Given the description of an element on the screen output the (x, y) to click on. 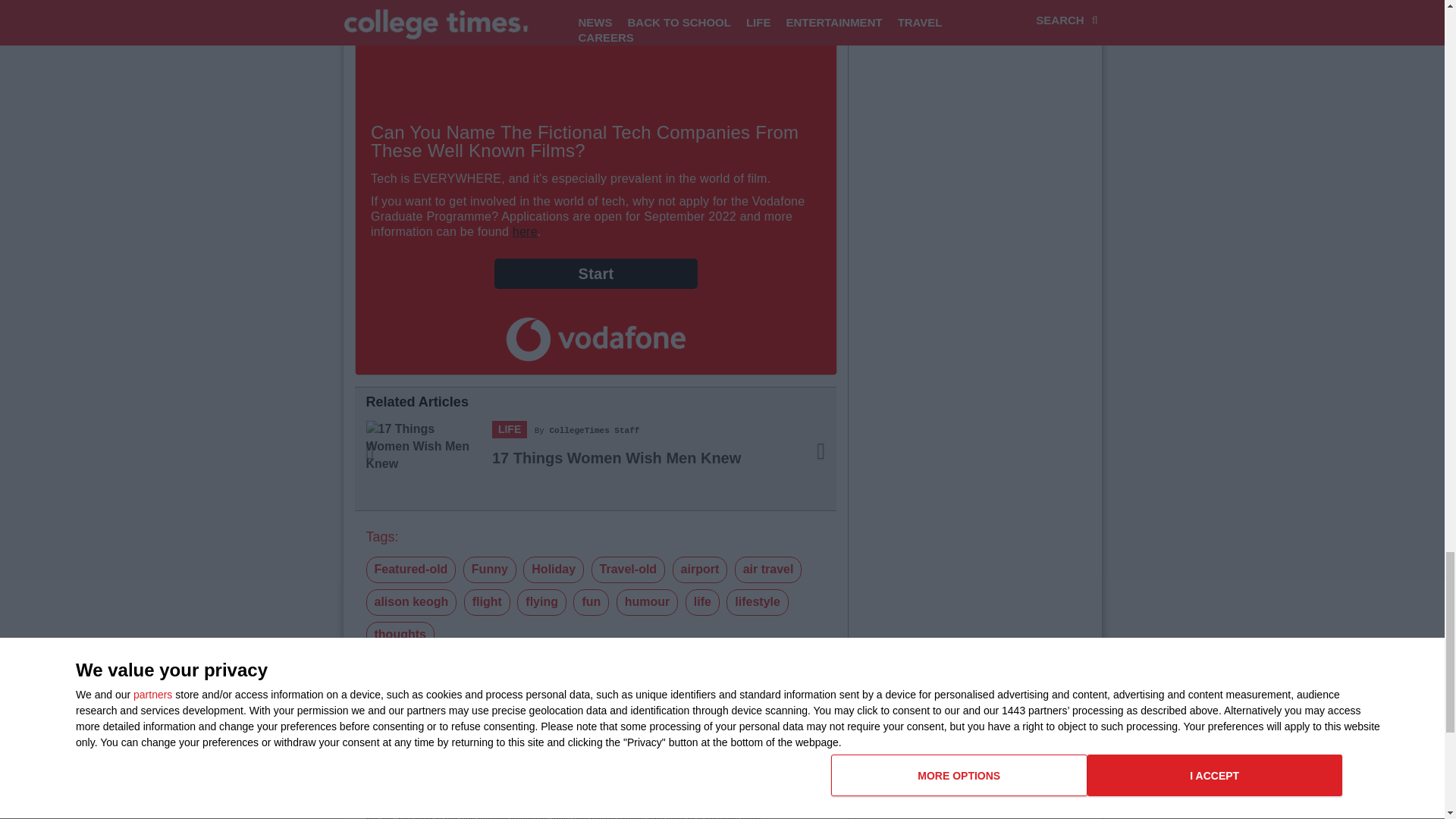
airport (700, 569)
Travel-old (628, 569)
air travel (768, 569)
alison keogh (411, 601)
Next (799, 459)
Previous (390, 459)
CollegeTimes Staff (595, 429)
LIFE (509, 429)
Funny (489, 569)
Holiday (552, 569)
Featured-old (410, 569)
17 Things Women Wish Men Knew (616, 457)
